Given the description of an element on the screen output the (x, y) to click on. 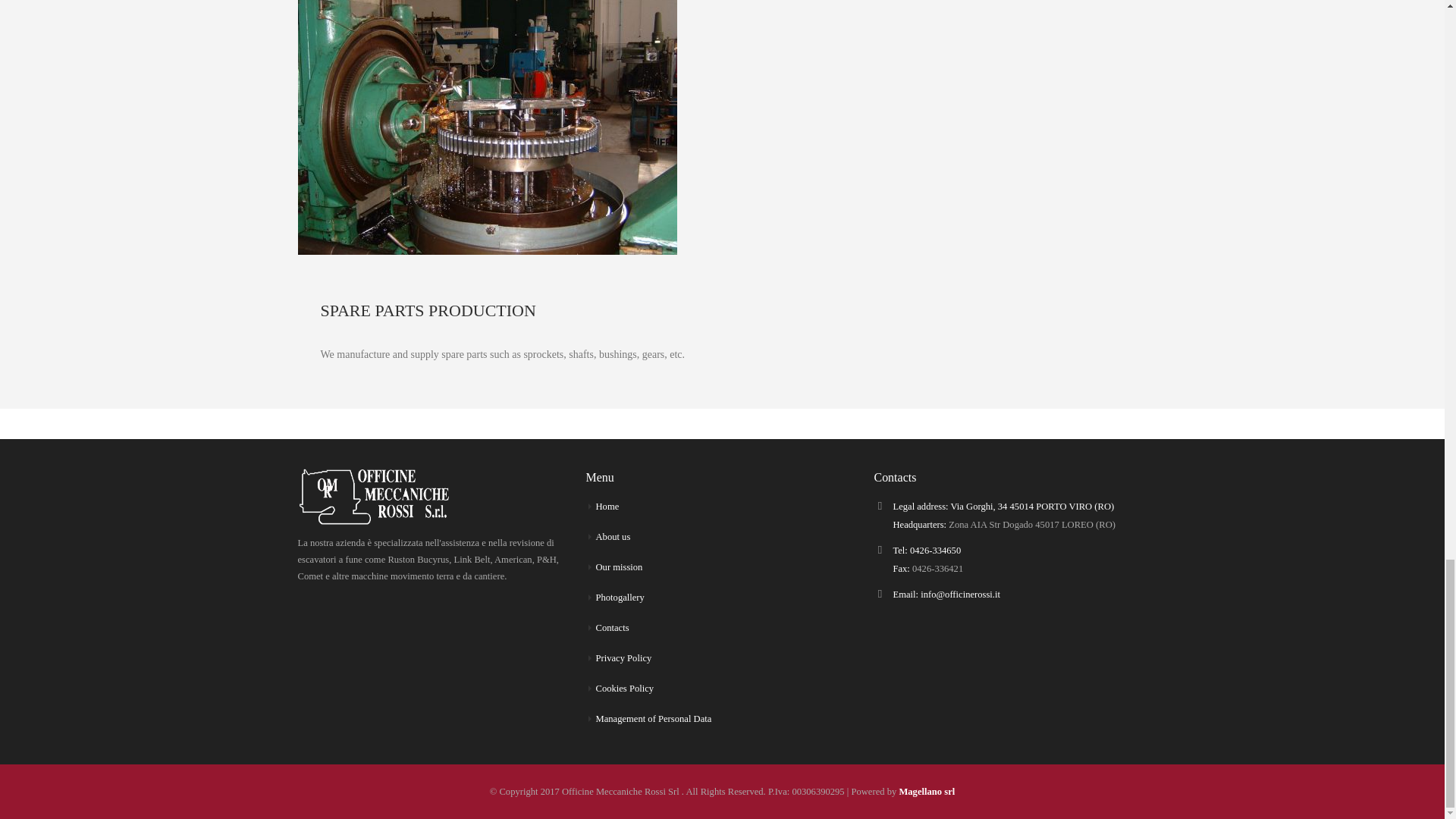
Home (606, 506)
Privacy Policy (622, 657)
About us (612, 536)
Photogallery (619, 597)
Magellano srl (926, 791)
Contacts (611, 627)
Our mission (618, 566)
Management of Personal Data (653, 718)
Cookies Policy (624, 688)
